Given the description of an element on the screen output the (x, y) to click on. 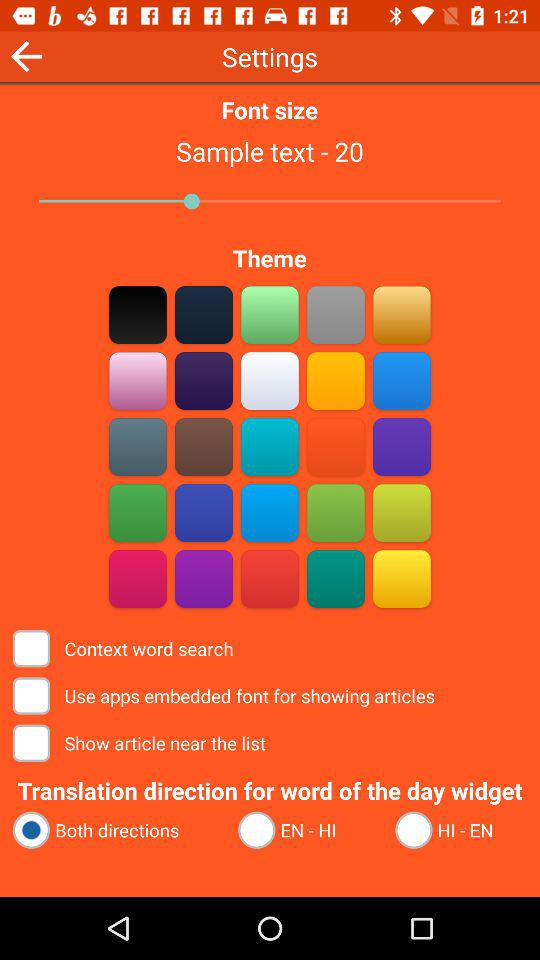
select blue (401, 380)
